Given the description of an element on the screen output the (x, y) to click on. 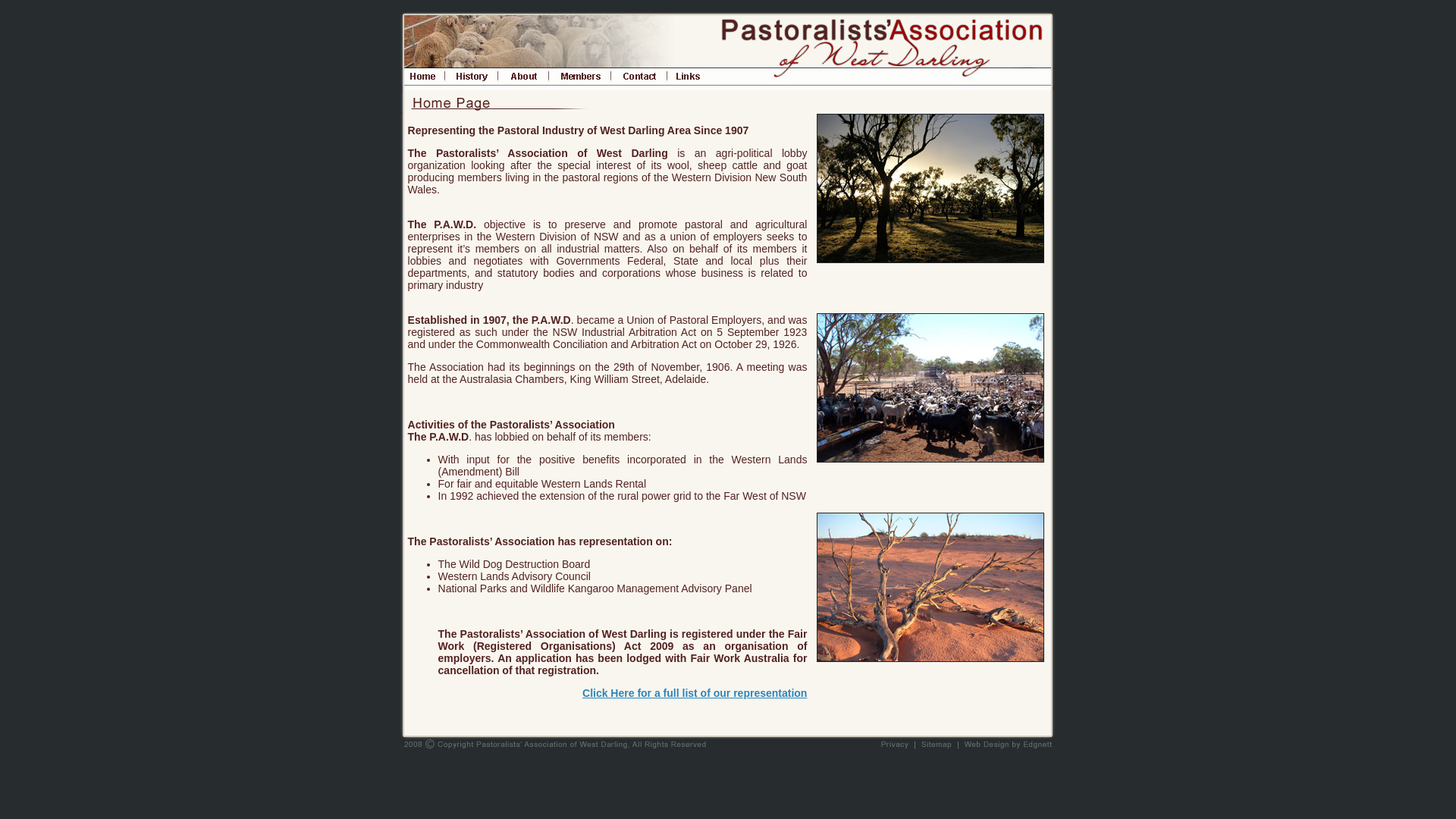
Click Here for a full list of our representation Element type: text (694, 693)
